Given the description of an element on the screen output the (x, y) to click on. 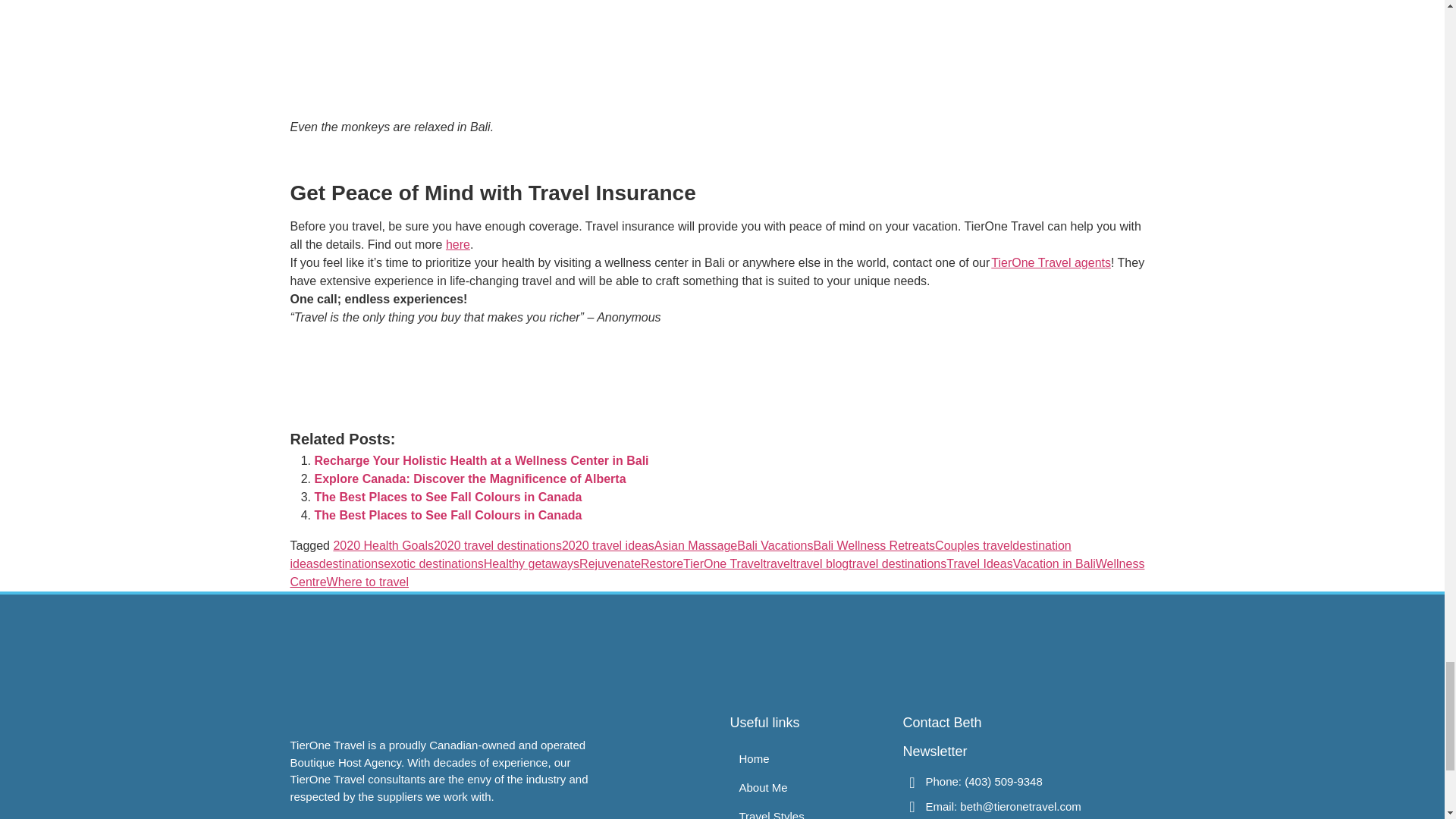
The Best Places to See Fall Colours in Canada (447, 496)
The Best Places to See Fall Colours in Canada (447, 514)
here (457, 244)
Recharge Your Holistic Health at a Wellness Center in Bali (480, 460)
Explore Canada: Discover the Magnificence of Alberta (470, 478)
